Given the description of an element on the screen output the (x, y) to click on. 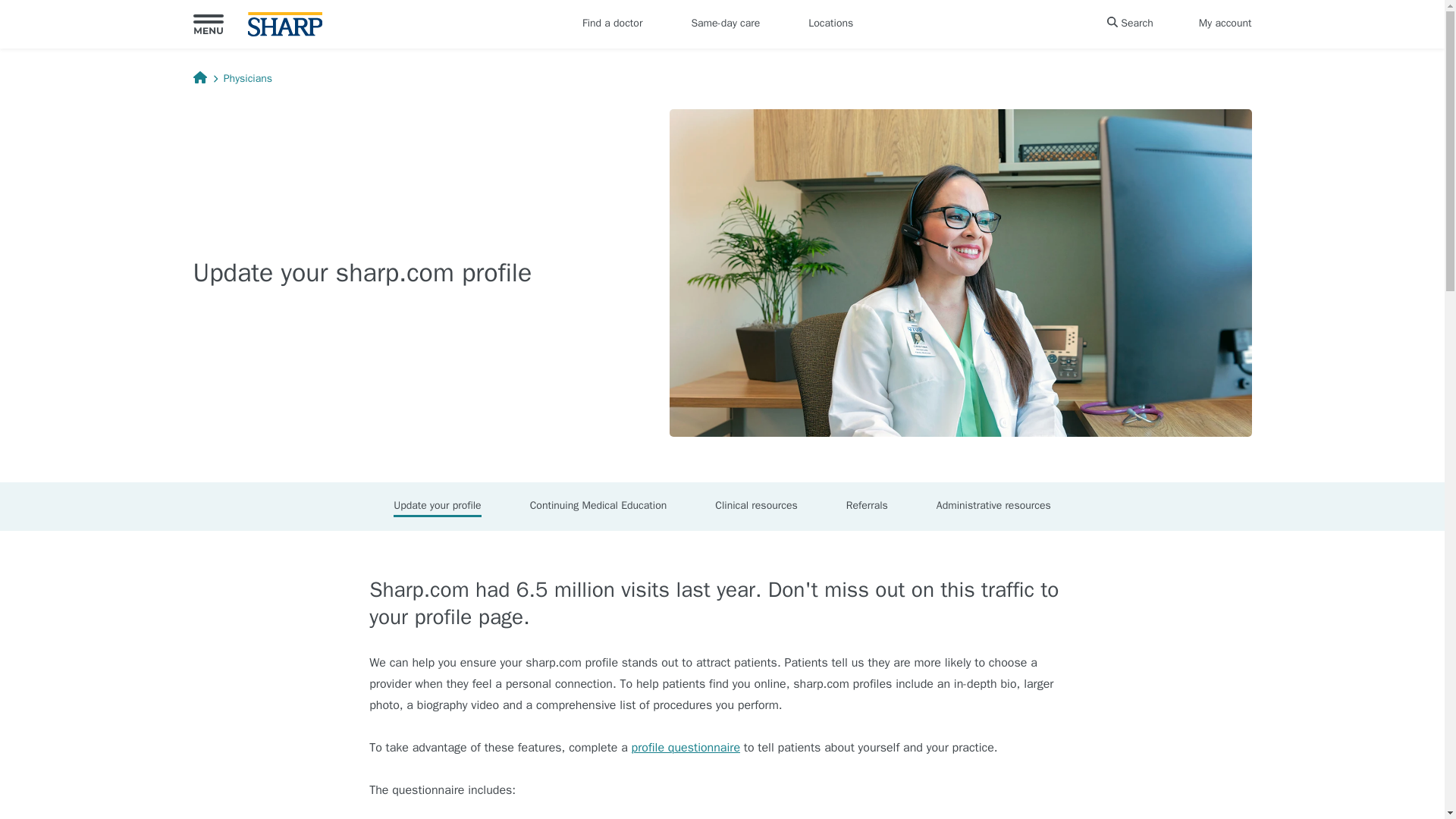
Search (1129, 23)
Find a doctor (611, 24)
Physicians (248, 78)
Administrative resources (993, 506)
My account (1225, 23)
Referrals (867, 506)
Same-day care (725, 24)
Locations (830, 24)
Update your profile (437, 506)
Continuing Medical Education (598, 506)
